Given the description of an element on the screen output the (x, y) to click on. 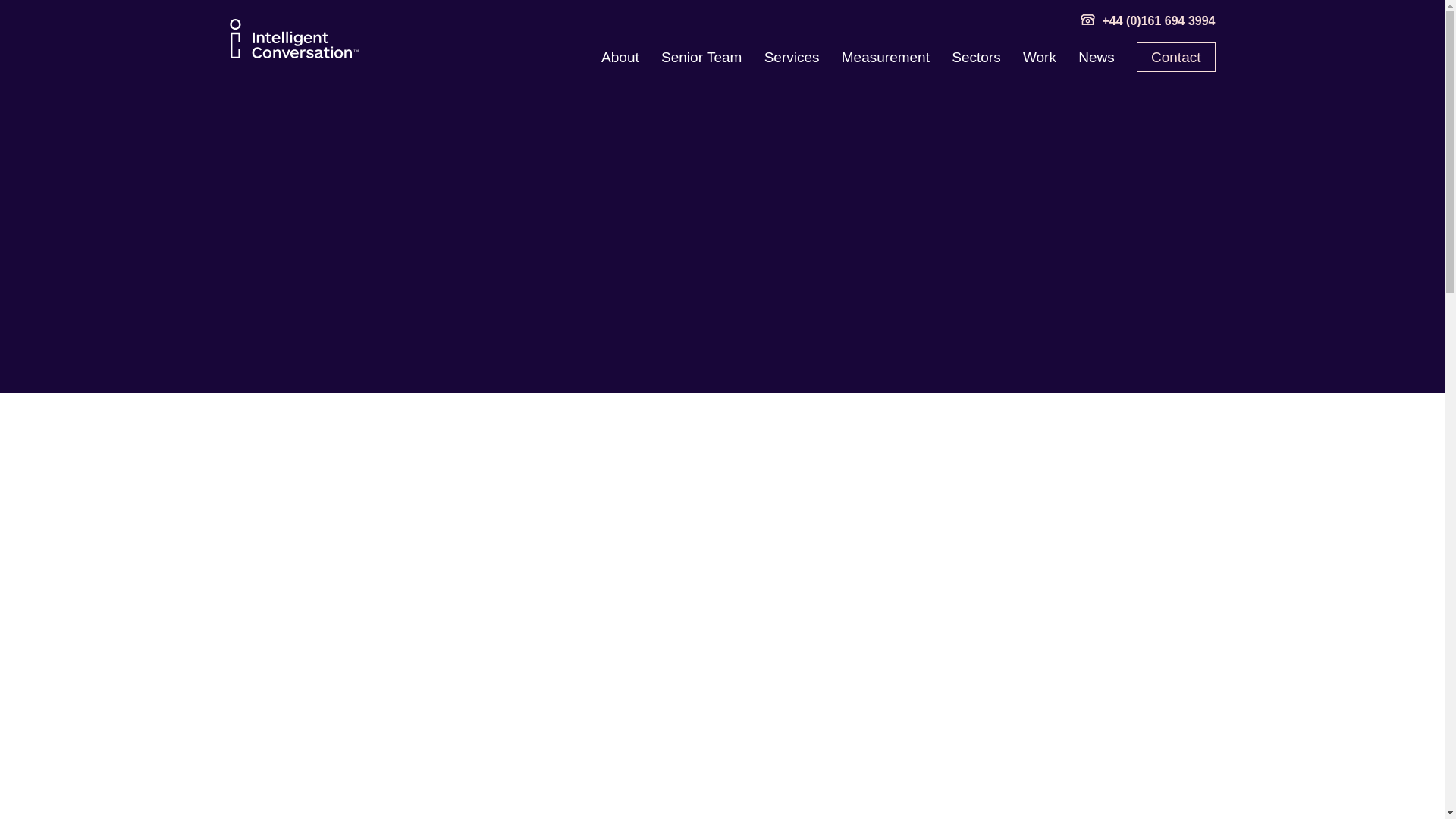
Work (1040, 57)
Measurement (885, 57)
Contact (1175, 57)
About (620, 57)
Sectors (976, 57)
Dialogue (293, 38)
Senior Team (701, 57)
News (1096, 57)
Services (791, 57)
